Given the description of an element on the screen output the (x, y) to click on. 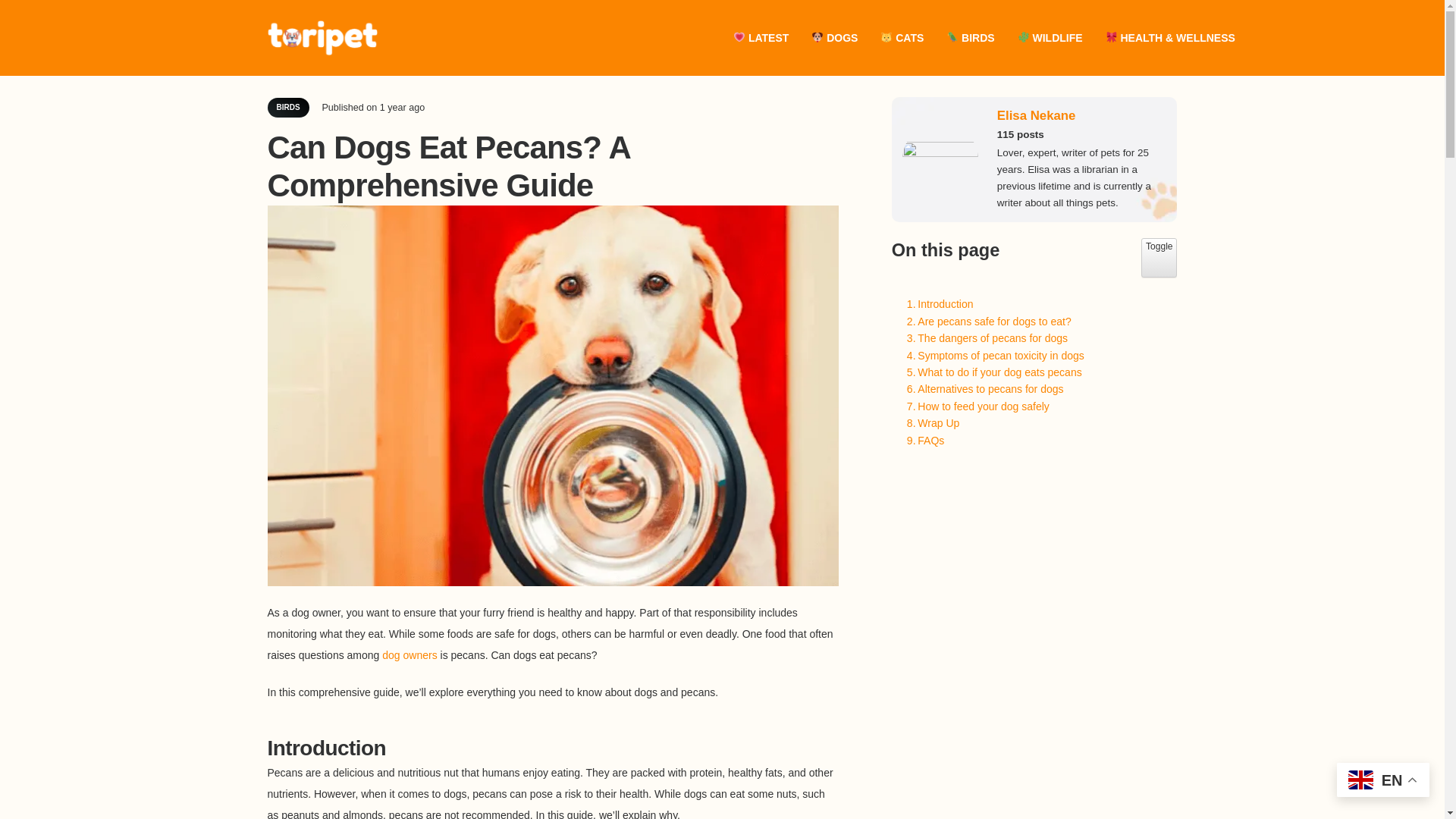
BIRDS (970, 37)
WILDLIFE (1050, 37)
Symptoms of pecan toxicity in dogs (991, 355)
LATEST (1158, 257)
Introduction (760, 37)
BIRDS (936, 303)
Are pecans safe for dogs to eat? (287, 107)
The dangers of pecans for dogs (985, 321)
The dangers of pecans for dogs (983, 338)
